Given the description of an element on the screen output the (x, y) to click on. 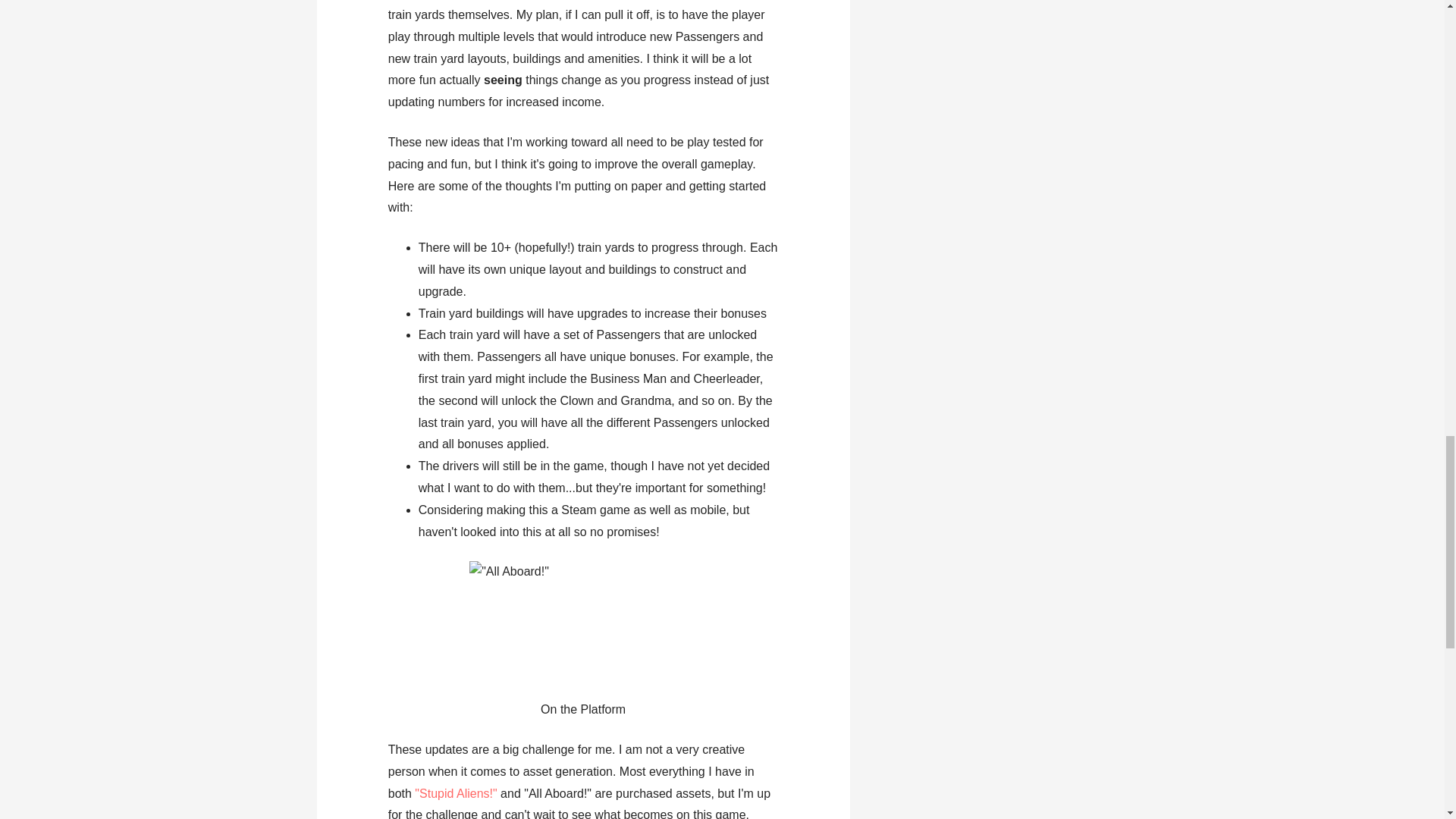
"Stupid Aliens!" (455, 793)
